Given the description of an element on the screen output the (x, y) to click on. 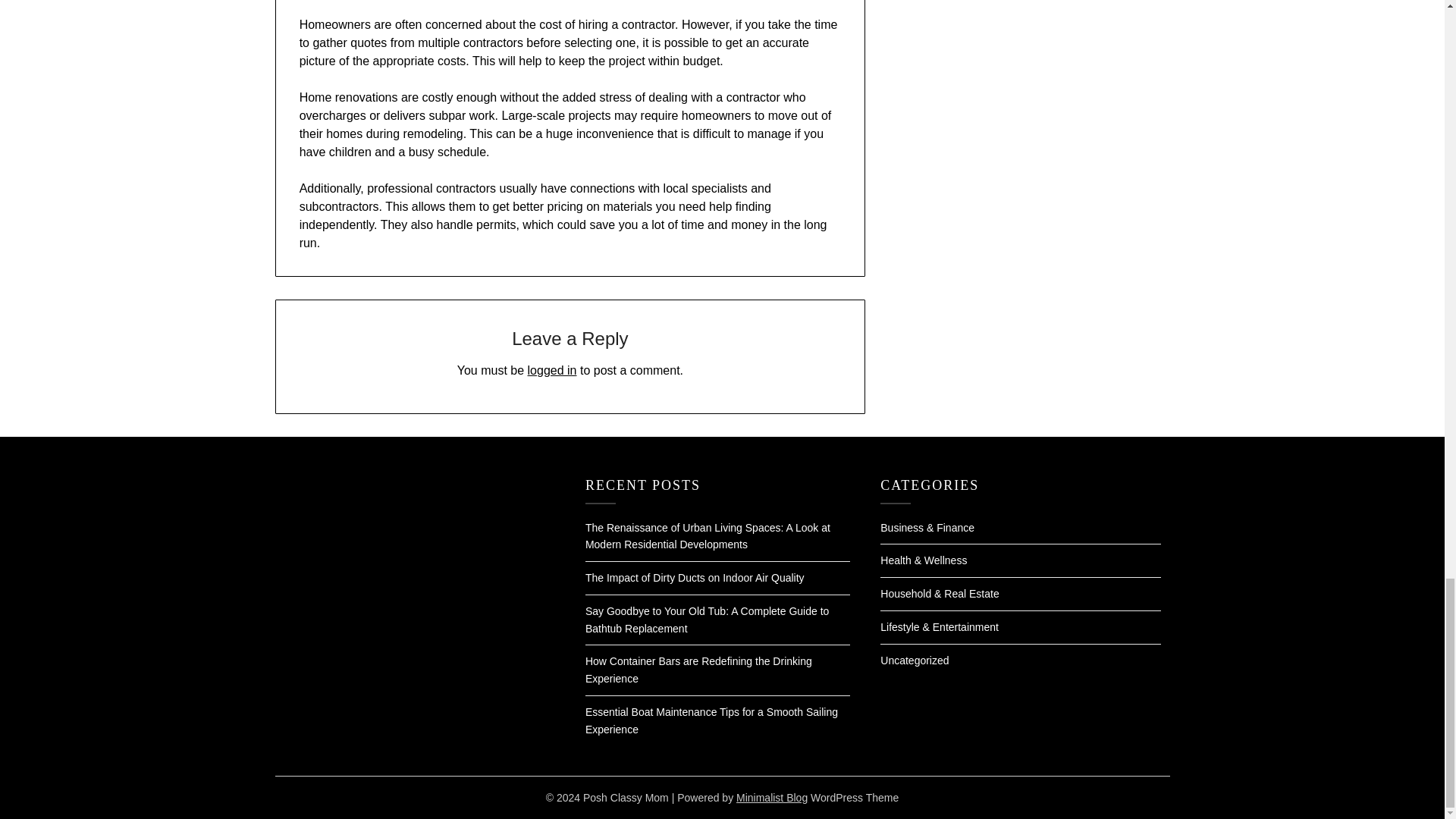
logged in (551, 369)
The Impact of Dirty Ducts on Indoor Air Quality (695, 577)
Uncategorized (914, 660)
How Container Bars are Redefining the Drinking Experience (698, 669)
Minimalist Blog (772, 797)
